Given the description of an element on the screen output the (x, y) to click on. 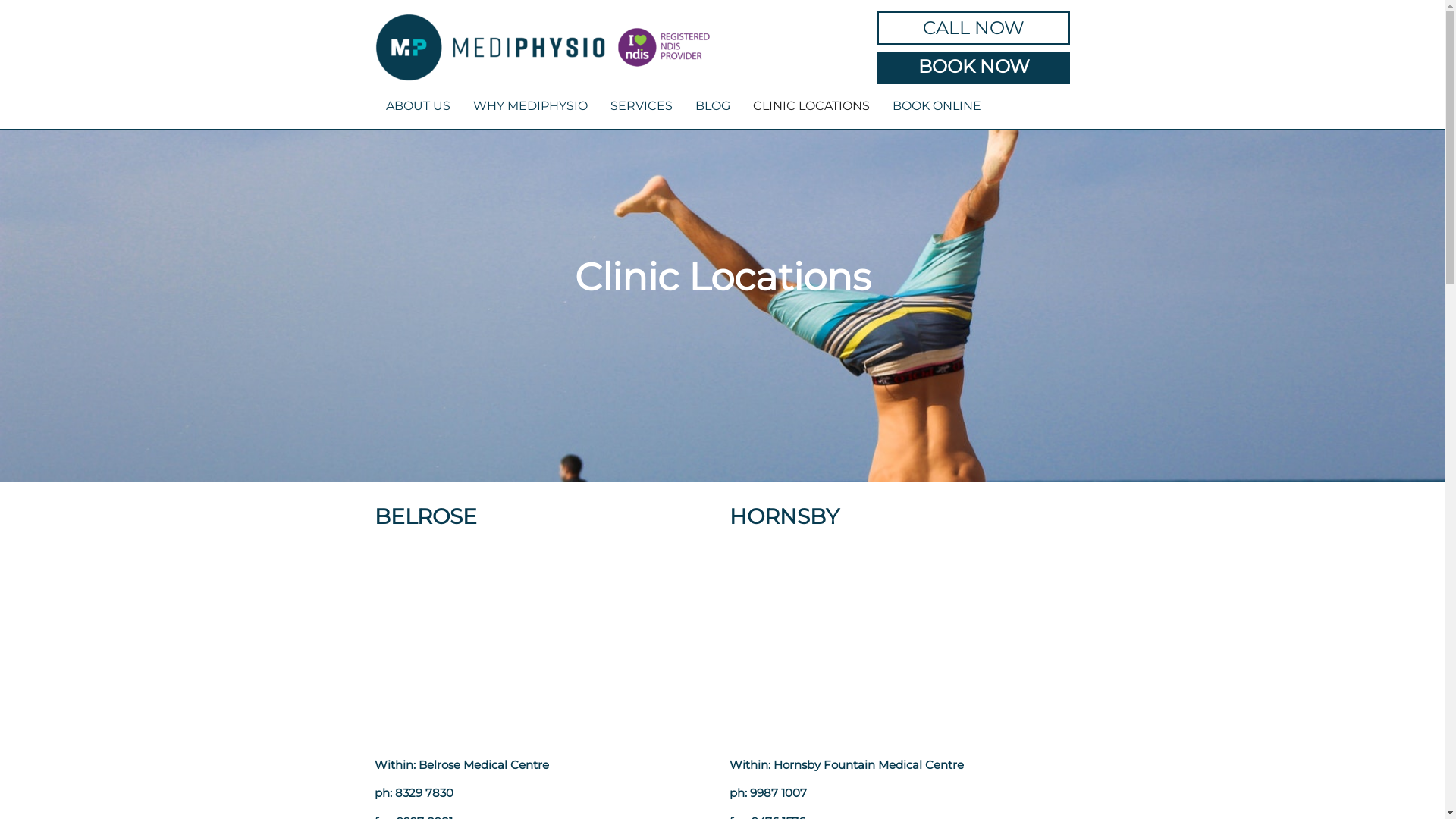
CLINIC LOCATIONS Element type: text (811, 106)
HORNSBY Element type: text (784, 516)
BOOK ONLINE Element type: text (936, 106)
BOOK NOW Element type: text (973, 66)
WHY MEDIPHYSIO Element type: text (530, 106)
CALL NOW Element type: text (973, 27)
SERVICES Element type: text (641, 106)
BELROSE Element type: text (425, 516)
8329 7830 Element type: text (424, 792)
9987 1007 Element type: text (777, 792)
BLOG Element type: text (712, 106)
ABOUT US Element type: text (417, 106)
